Given the description of an element on the screen output the (x, y) to click on. 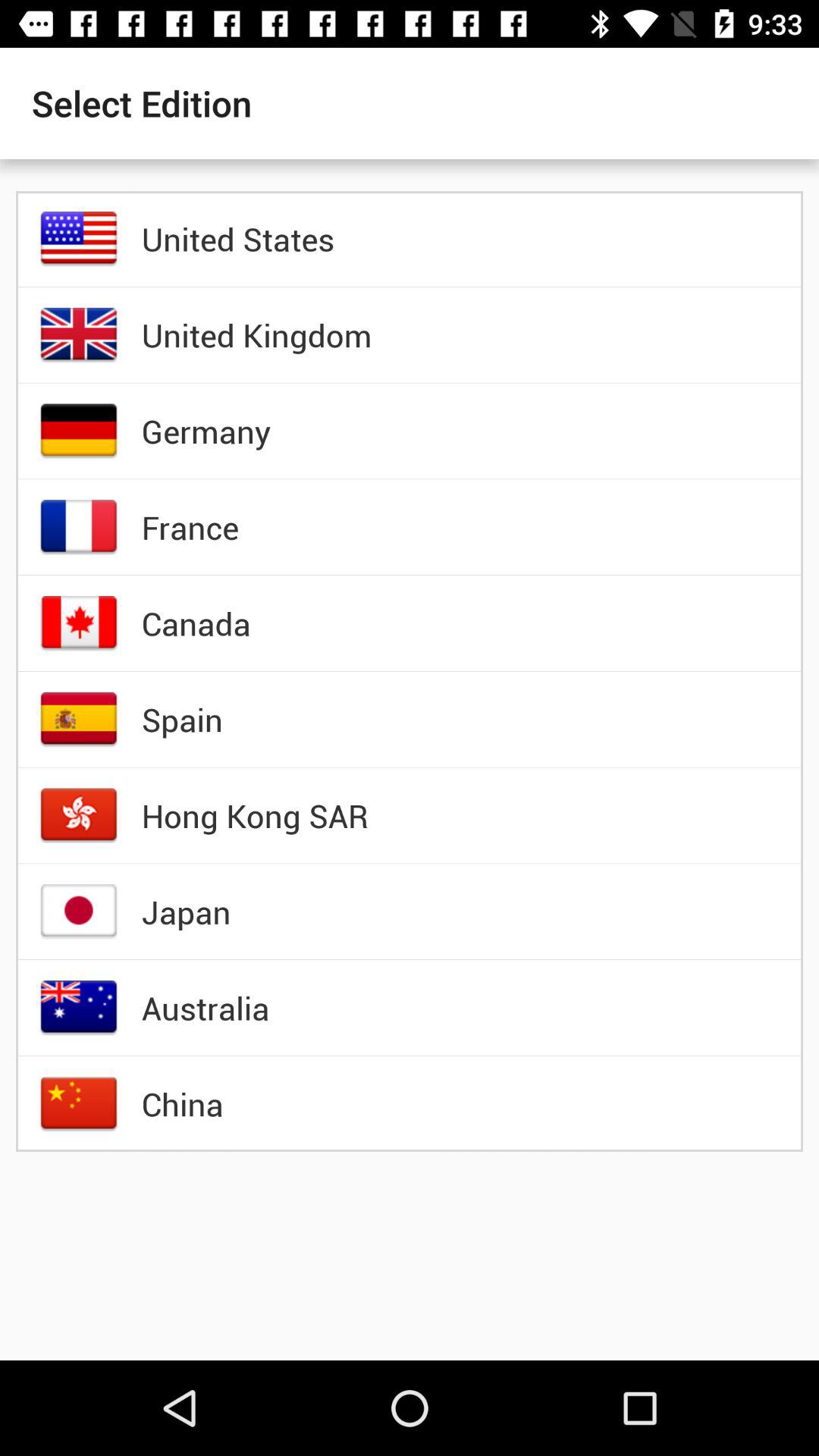
turn on the united kingdom icon (256, 334)
